Given the description of an element on the screen output the (x, y) to click on. 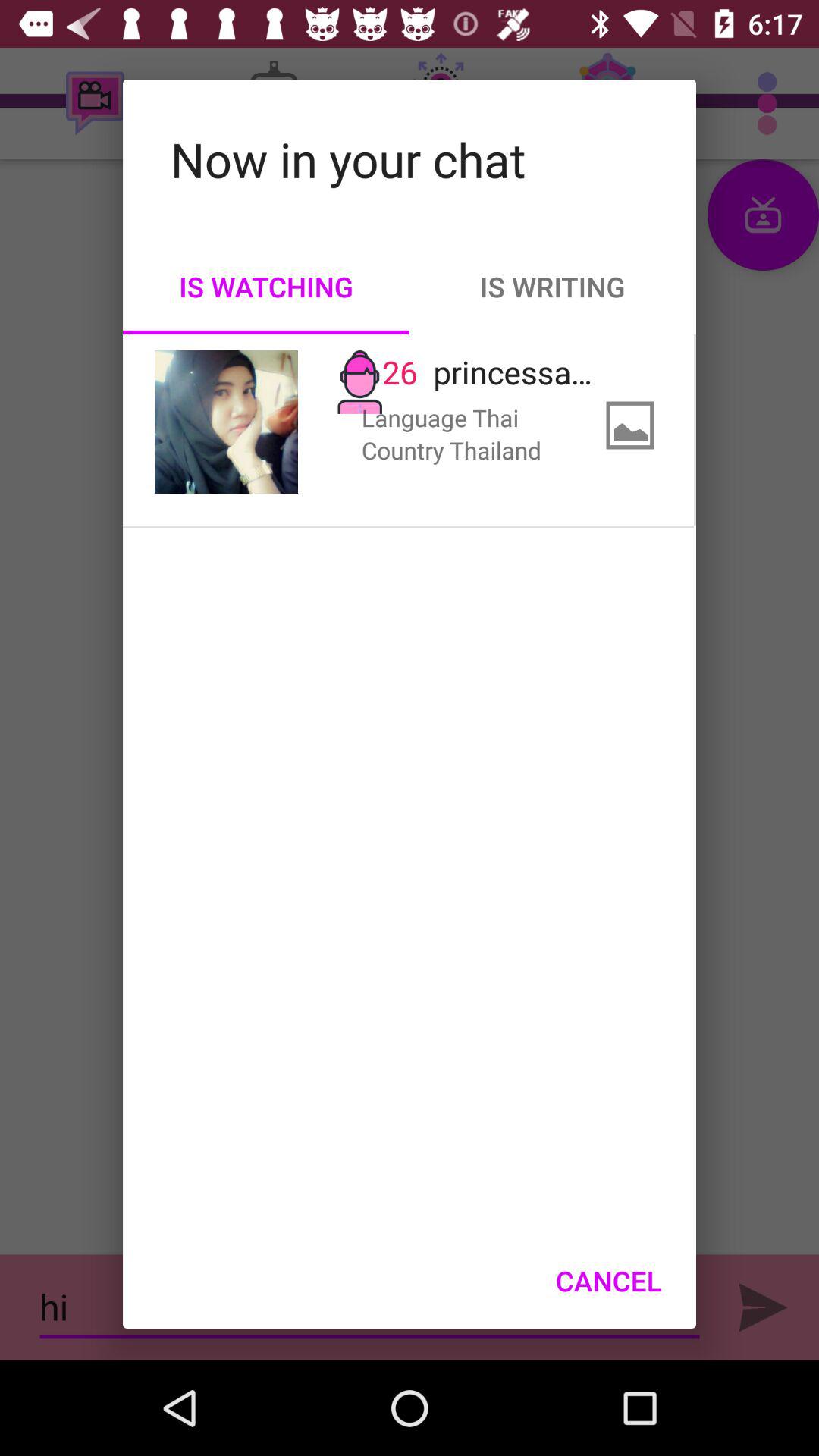
flip until cancel item (608, 1280)
